Given the description of an element on the screen output the (x, y) to click on. 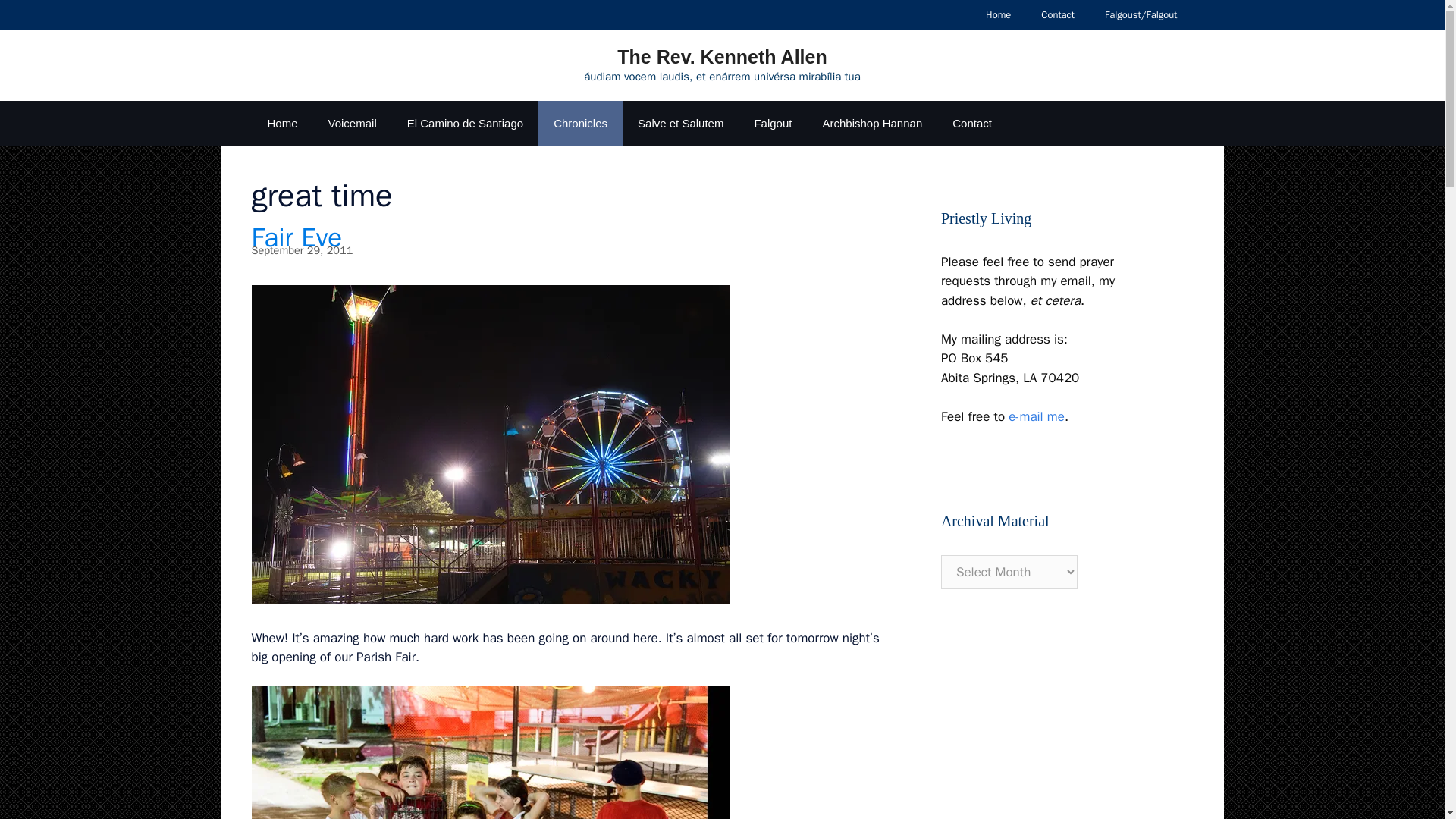
Home (998, 15)
e-mail me (1036, 415)
The Rev. Kenneth Allen (722, 56)
Voicemail (352, 122)
Fair Eve (296, 236)
Salve et Salutem (680, 122)
Home (282, 122)
Chronicles (580, 122)
Contact (1057, 15)
Archbishop Hannan (871, 122)
Contact (972, 122)
El Camino de Santiago (464, 122)
Falgout (772, 122)
